Given the description of an element on the screen output the (x, y) to click on. 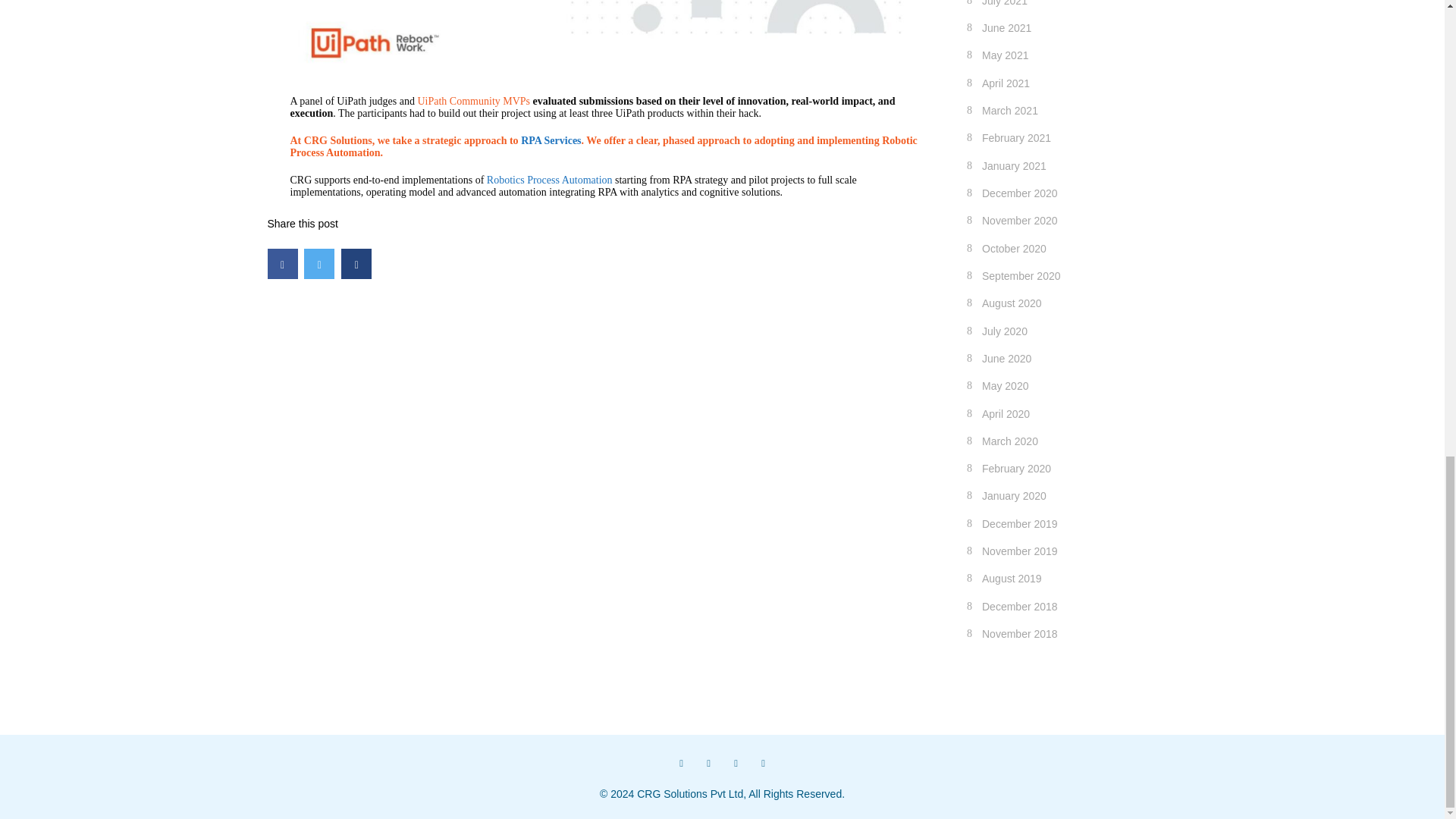
Facebook (680, 763)
RPA Post (605, 34)
linkedin (735, 763)
YouTube (762, 763)
Twitter (708, 763)
